Given the description of an element on the screen output the (x, y) to click on. 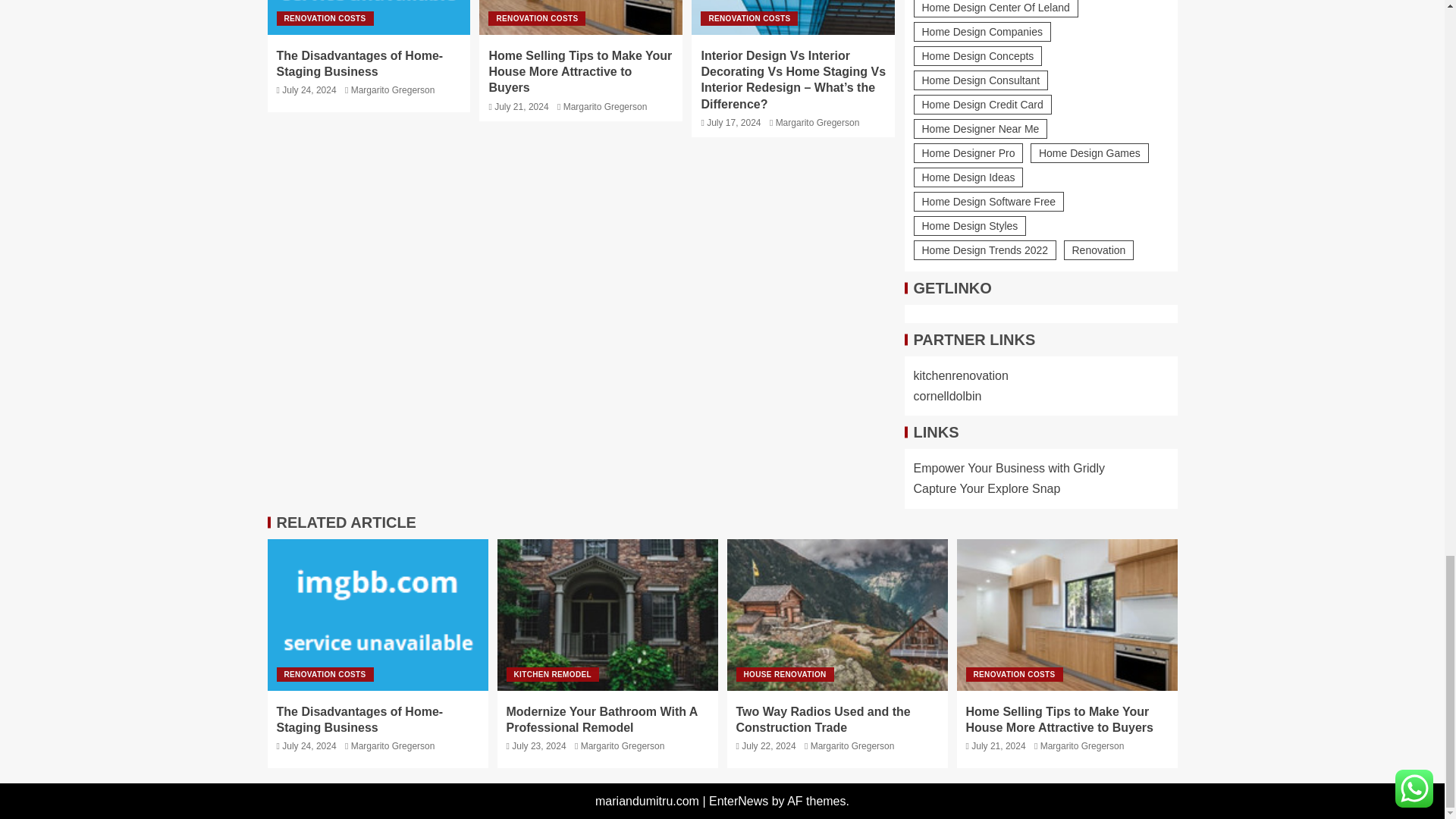
The Disadvantages of Home-Staging Business (368, 17)
RENOVATION COSTS (324, 18)
The Disadvantages of Home-Staging Business (359, 63)
RENOVATION COSTS (536, 18)
Margarito Gregerson (392, 90)
The Disadvantages of Home-Staging Business (376, 614)
Modernize Your Bathroom With A Professional Remodel (607, 614)
Margarito Gregerson (605, 106)
Two Way Radios Used and the Construction Trade (836, 614)
